Given the description of an element on the screen output the (x, y) to click on. 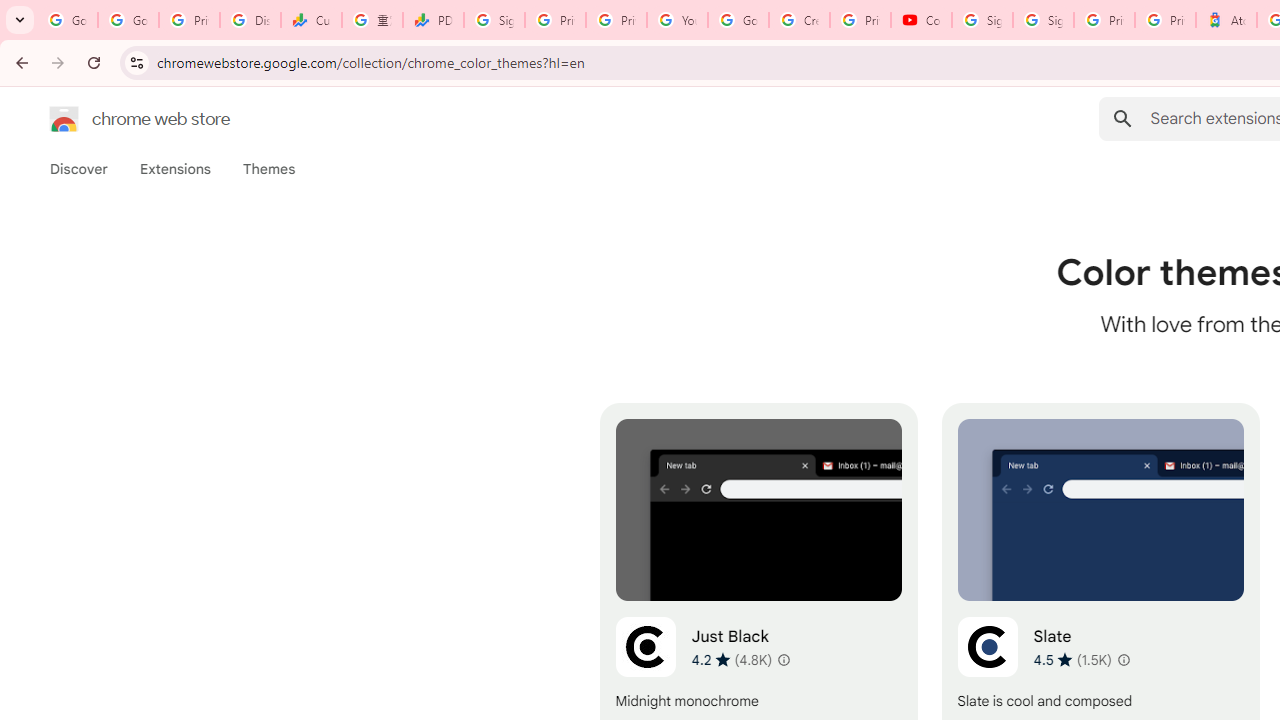
Discover (79, 169)
Google Account Help (738, 20)
YouTube (676, 20)
Chrome Web Store logo (63, 118)
PDD Holdings Inc - ADR (PDD) Price & News - Google Finance (433, 20)
Atour Hotel - Google hotels (1225, 20)
Themes (269, 169)
Privacy Checkup (616, 20)
Currencies - Google Finance (310, 20)
